Given the description of an element on the screen output the (x, y) to click on. 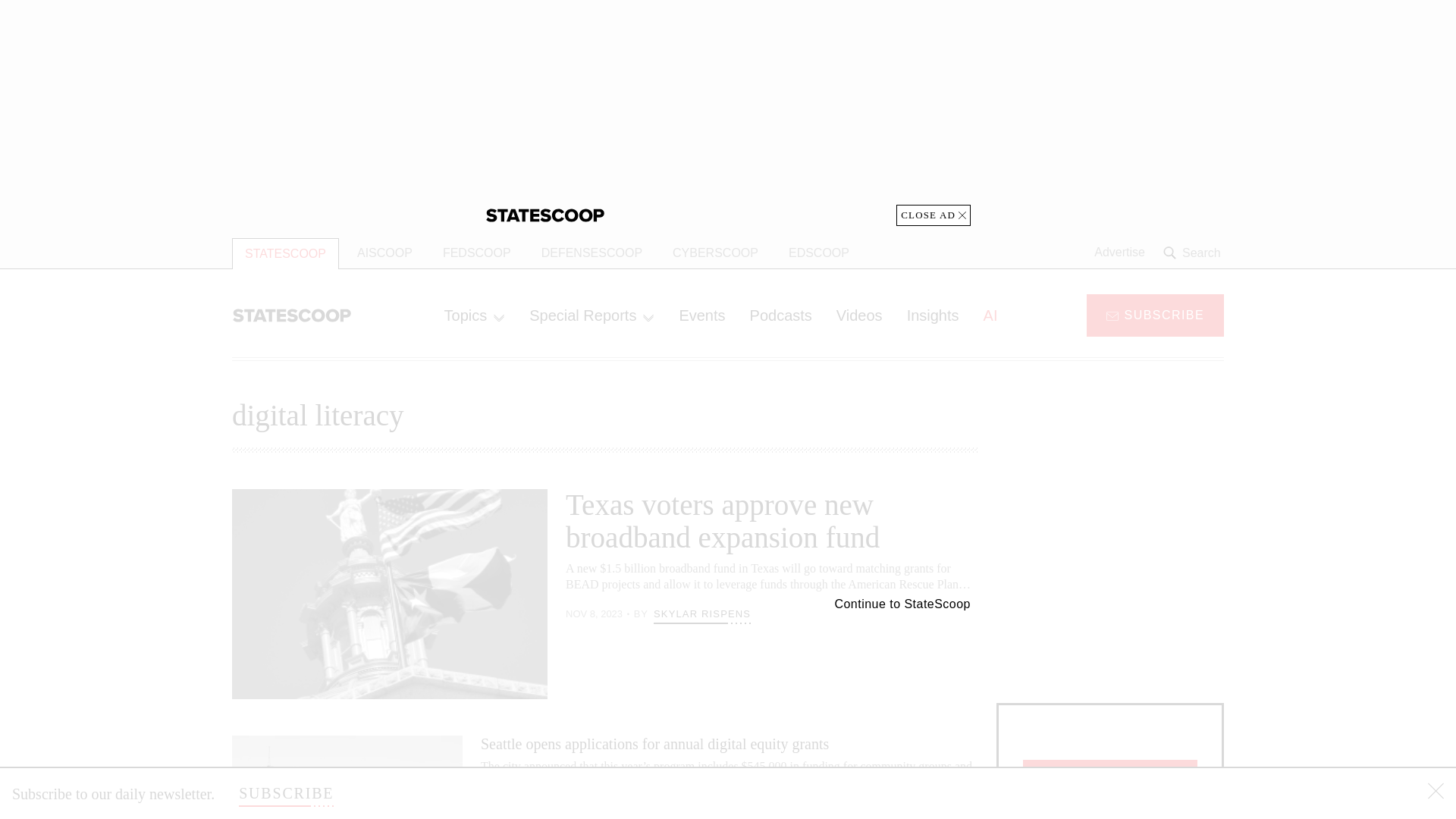
Advertise (1119, 252)
STATESCOOP (285, 253)
Events (701, 315)
AISCOOP (385, 253)
CYBERSCOOP (715, 253)
Topics (475, 315)
SUBSCRIBE (1155, 314)
Special Reports (591, 315)
FEDSCOOP (476, 253)
Videos (859, 315)
Insights (933, 315)
3rd party ad content (1109, 583)
